Given the description of an element on the screen output the (x, y) to click on. 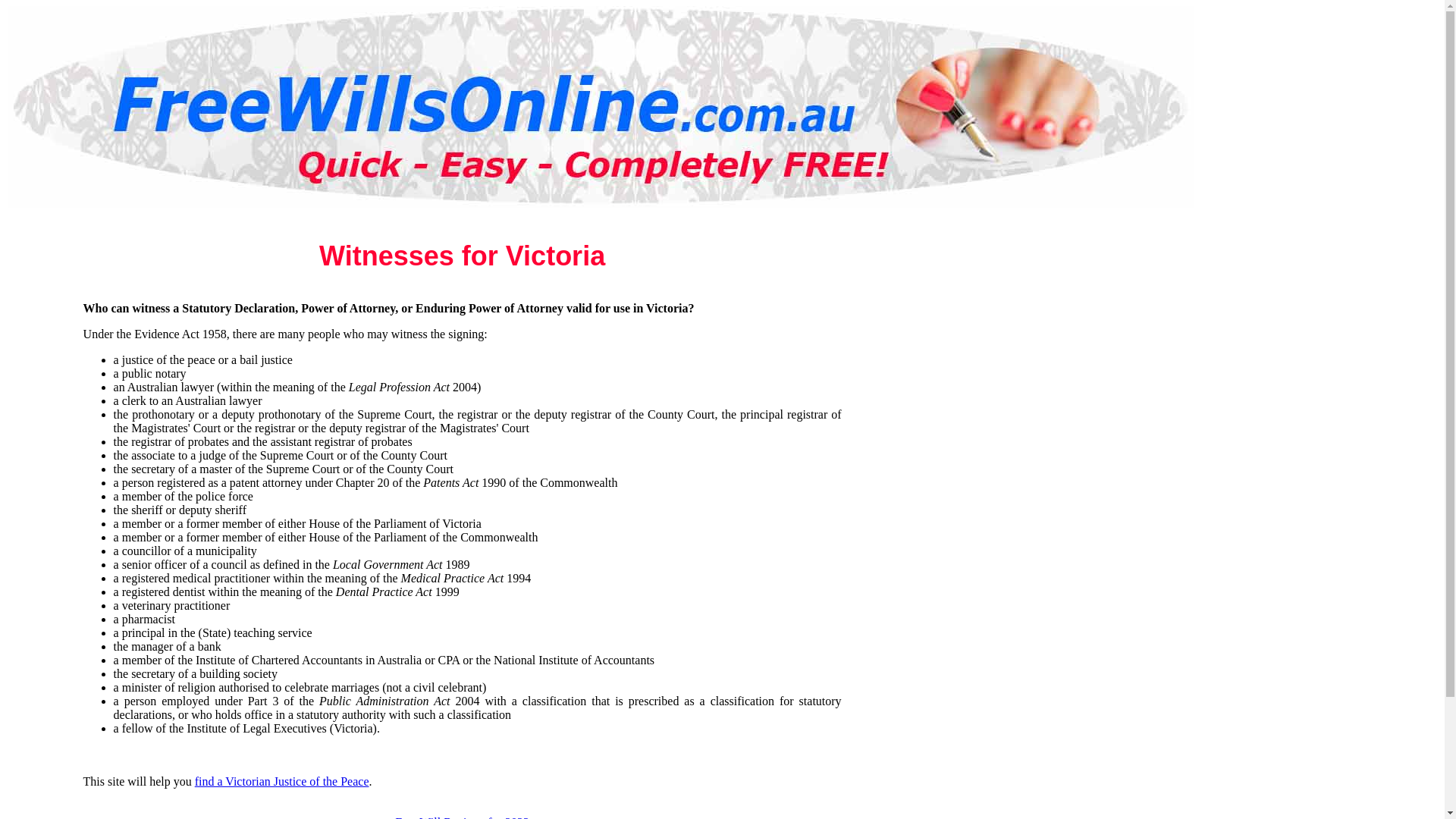
Free Wills for Australia. Element type: hover (600, 106)
find a Victorian Justice of the Peace Element type: text (281, 781)
